Given the description of an element on the screen output the (x, y) to click on. 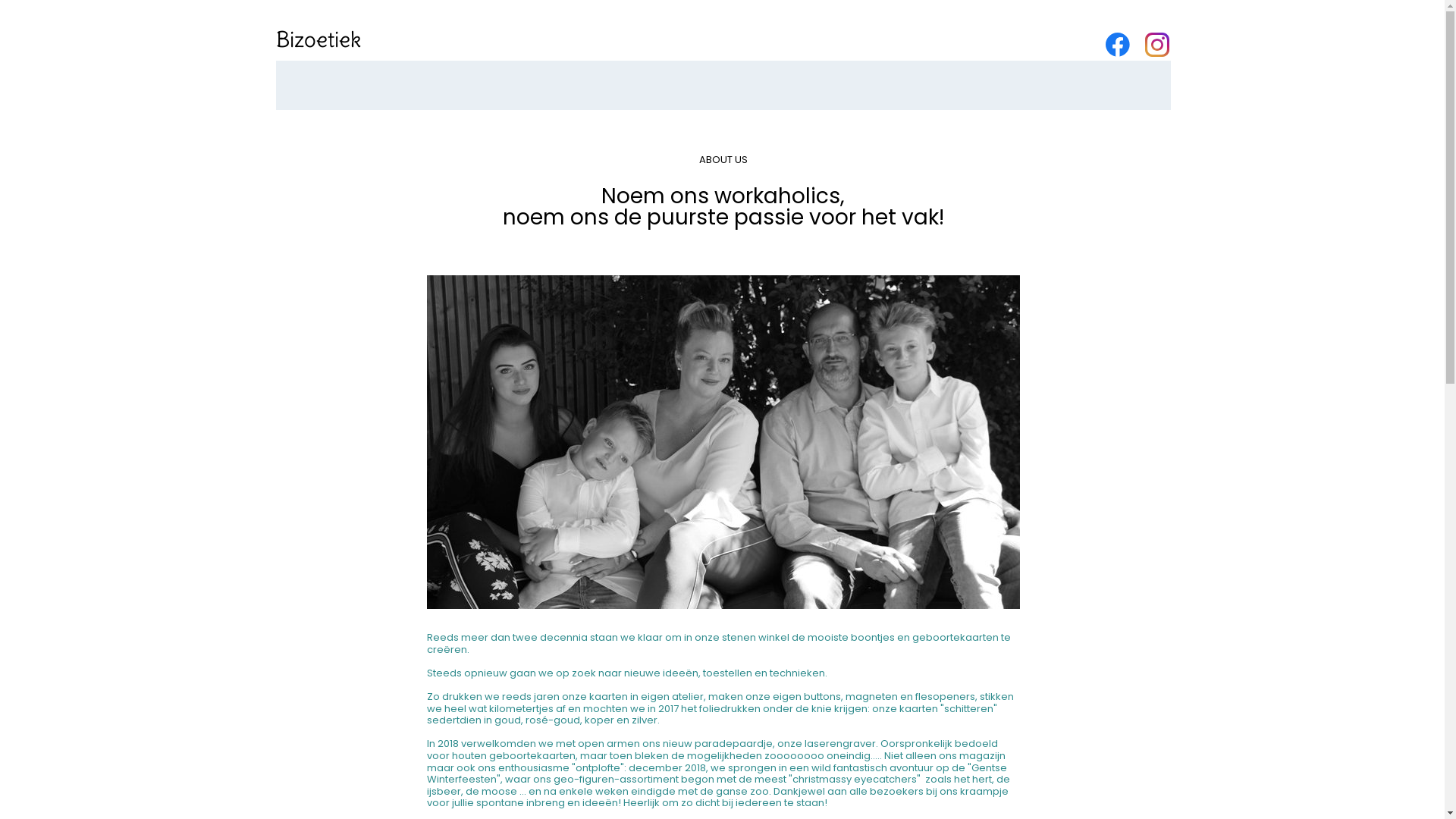
Bizoetiek Element type: text (318, 39)
